Given the description of an element on the screen output the (x, y) to click on. 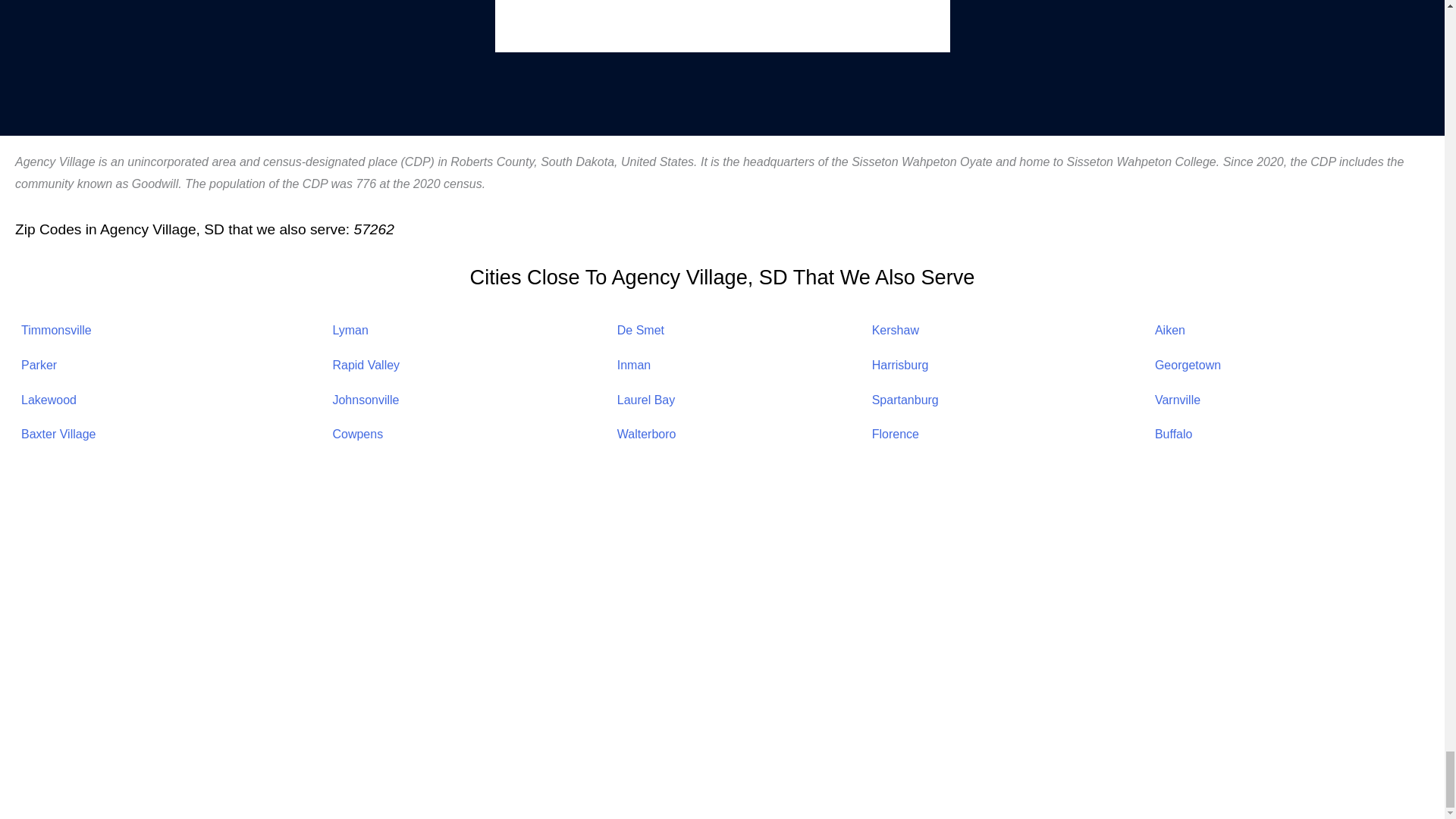
Timmonsville (56, 329)
Rapid Valley (364, 364)
Parker (38, 364)
Kershaw (895, 329)
Inman (633, 364)
Lyman (349, 329)
De Smet (640, 329)
Aiken (1169, 329)
